Given the description of an element on the screen output the (x, y) to click on. 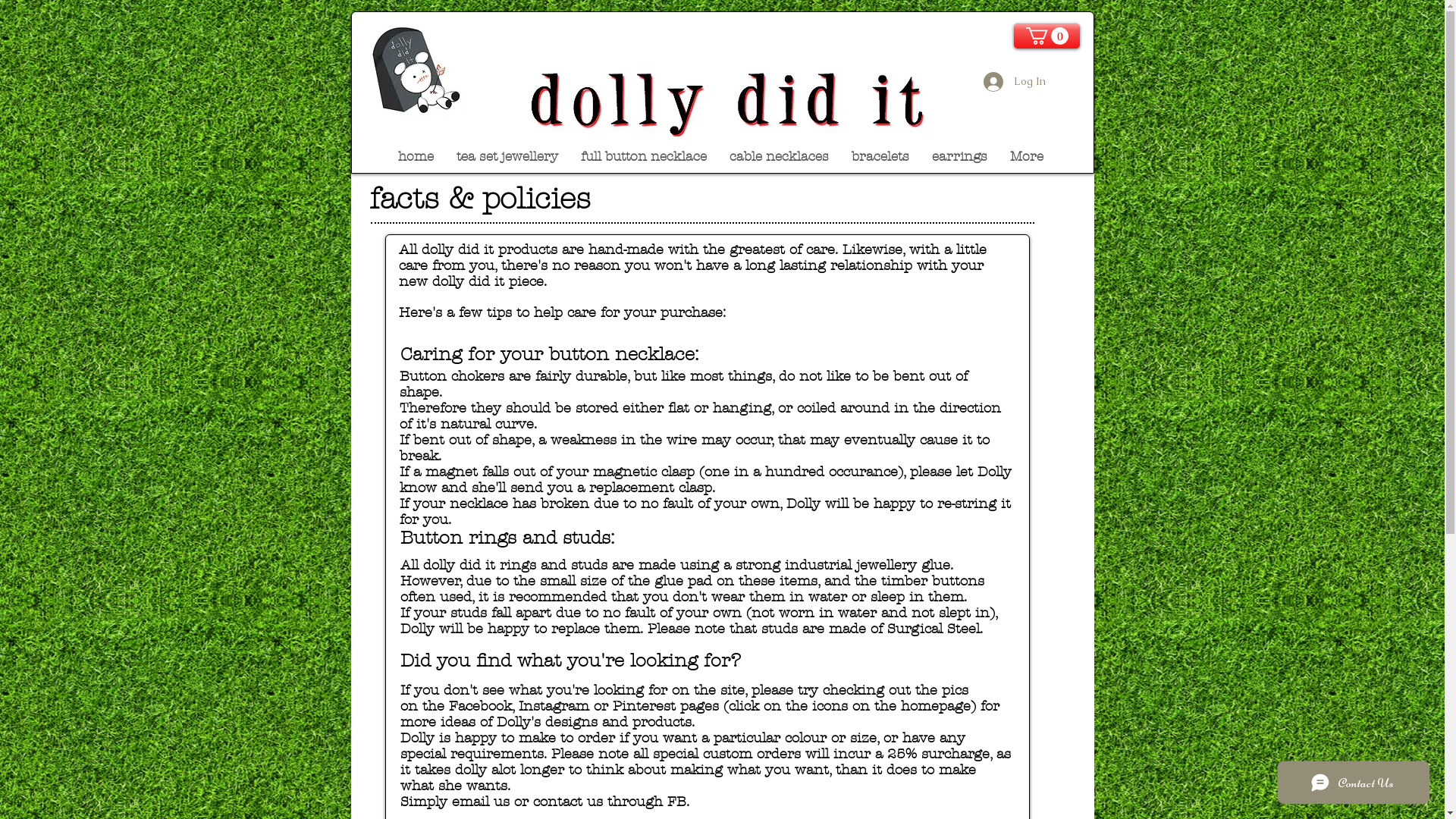
bracelets Element type: text (880, 155)
home Element type: text (415, 155)
0 Element type: text (1046, 35)
Edited Image 2018-01-16 02-53-42 Element type: hover (735, 100)
Log In Element type: text (1013, 81)
earrings Element type: text (959, 155)
full button necklace Element type: text (643, 155)
tea set jewellery Element type: text (507, 155)
cable necklaces Element type: text (779, 155)
